Given the description of an element on the screen output the (x, y) to click on. 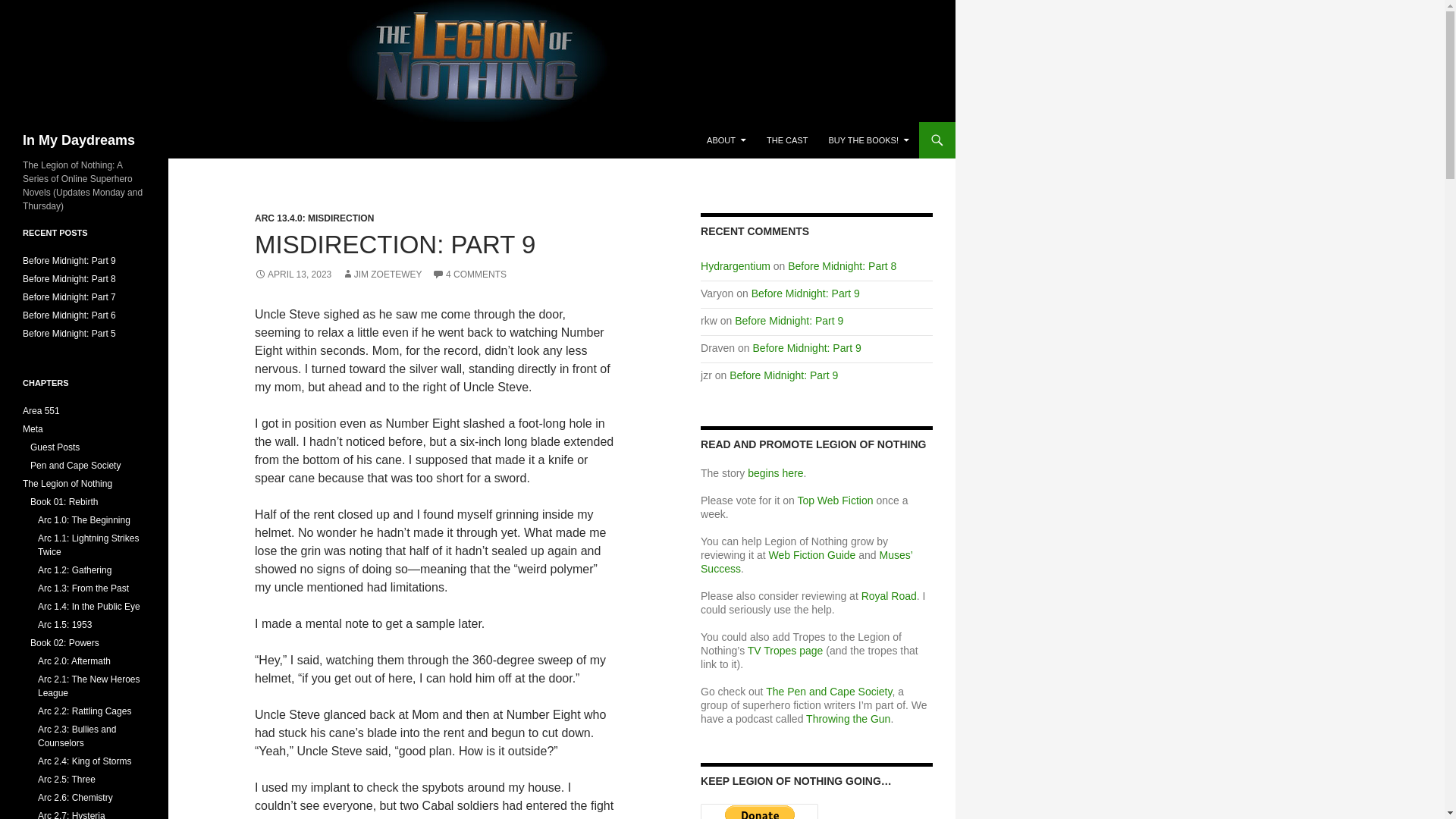
4 COMMENTS (469, 274)
APRIL 13, 2023 (292, 274)
BUY THE BOOKS! (868, 140)
ABOUT (726, 140)
In My Daydreams (79, 140)
JIM ZOETEWEY (382, 274)
THE CAST (786, 140)
ARC 13.4.0: MISDIRECTION (314, 217)
